Given the description of an element on the screen output the (x, y) to click on. 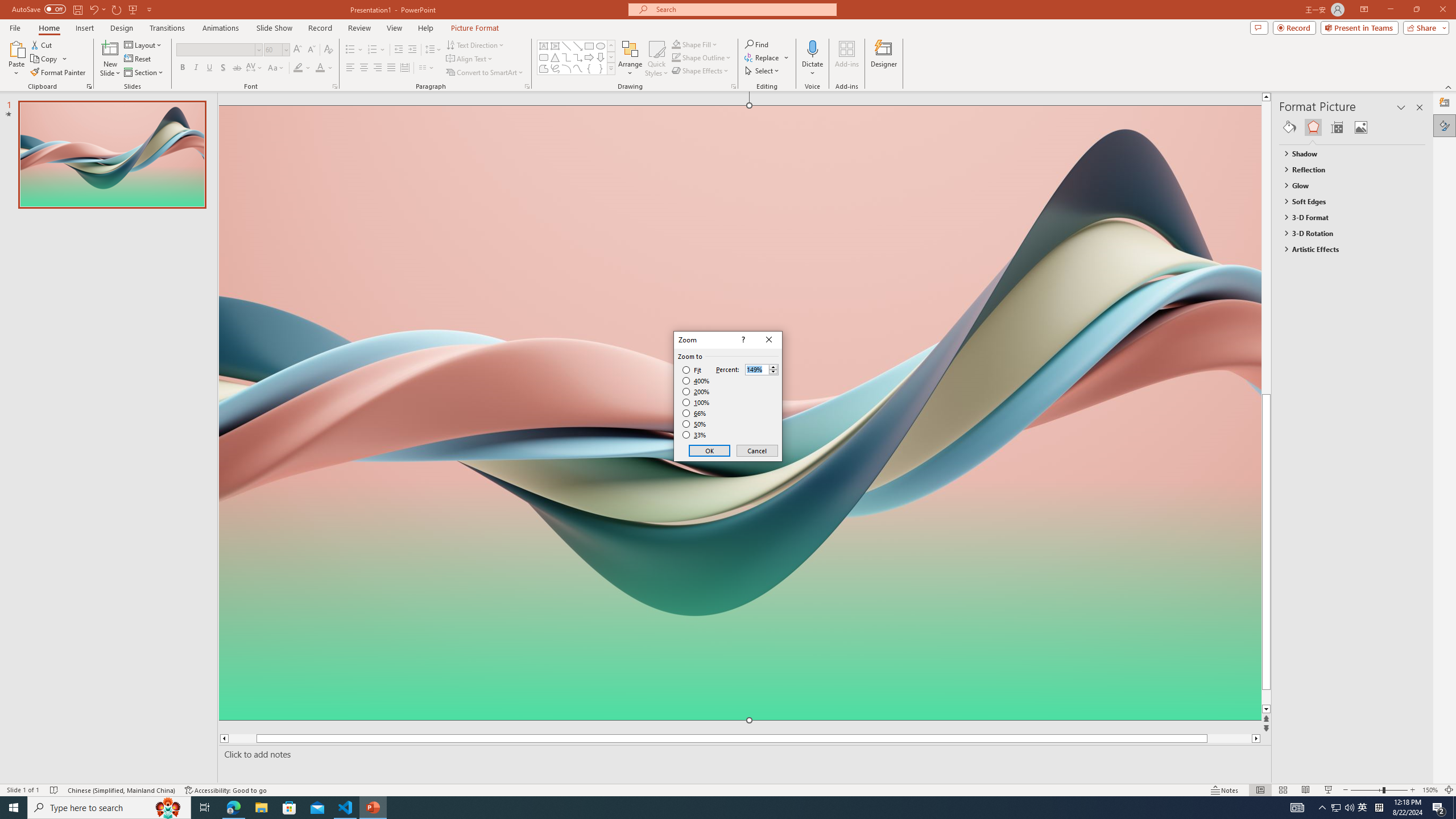
Microsoft Store (289, 807)
Line Spacing (433, 49)
Running applications (707, 807)
Class: NetUIGalleryContainer (1352, 126)
Font Color (324, 67)
Shape Outline Blue, Accent 1 (675, 56)
Effects (1313, 126)
Line (566, 45)
Line Arrow (577, 45)
